Given the description of an element on the screen output the (x, y) to click on. 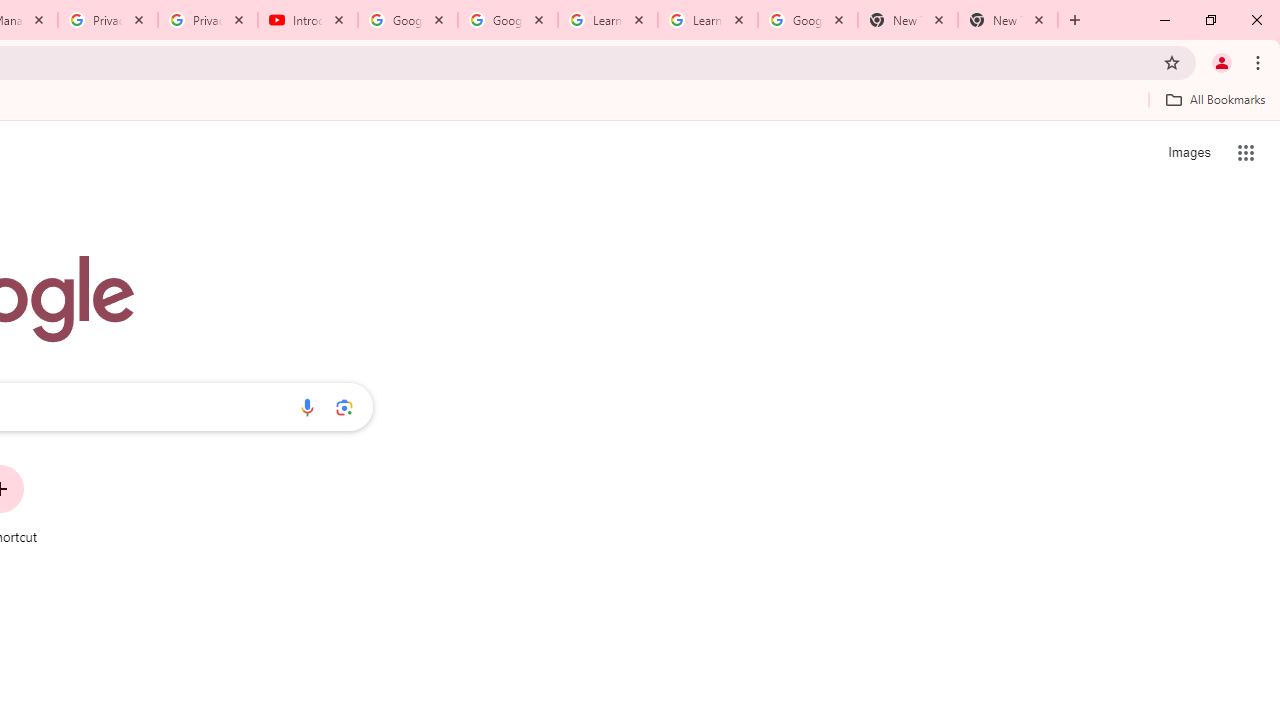
Google Account Help (408, 20)
Google Account (807, 20)
New Tab (1007, 20)
New Tab (907, 20)
All Bookmarks (1215, 99)
Search for Images  (1188, 152)
Google Account Help (508, 20)
